Given the description of an element on the screen output the (x, y) to click on. 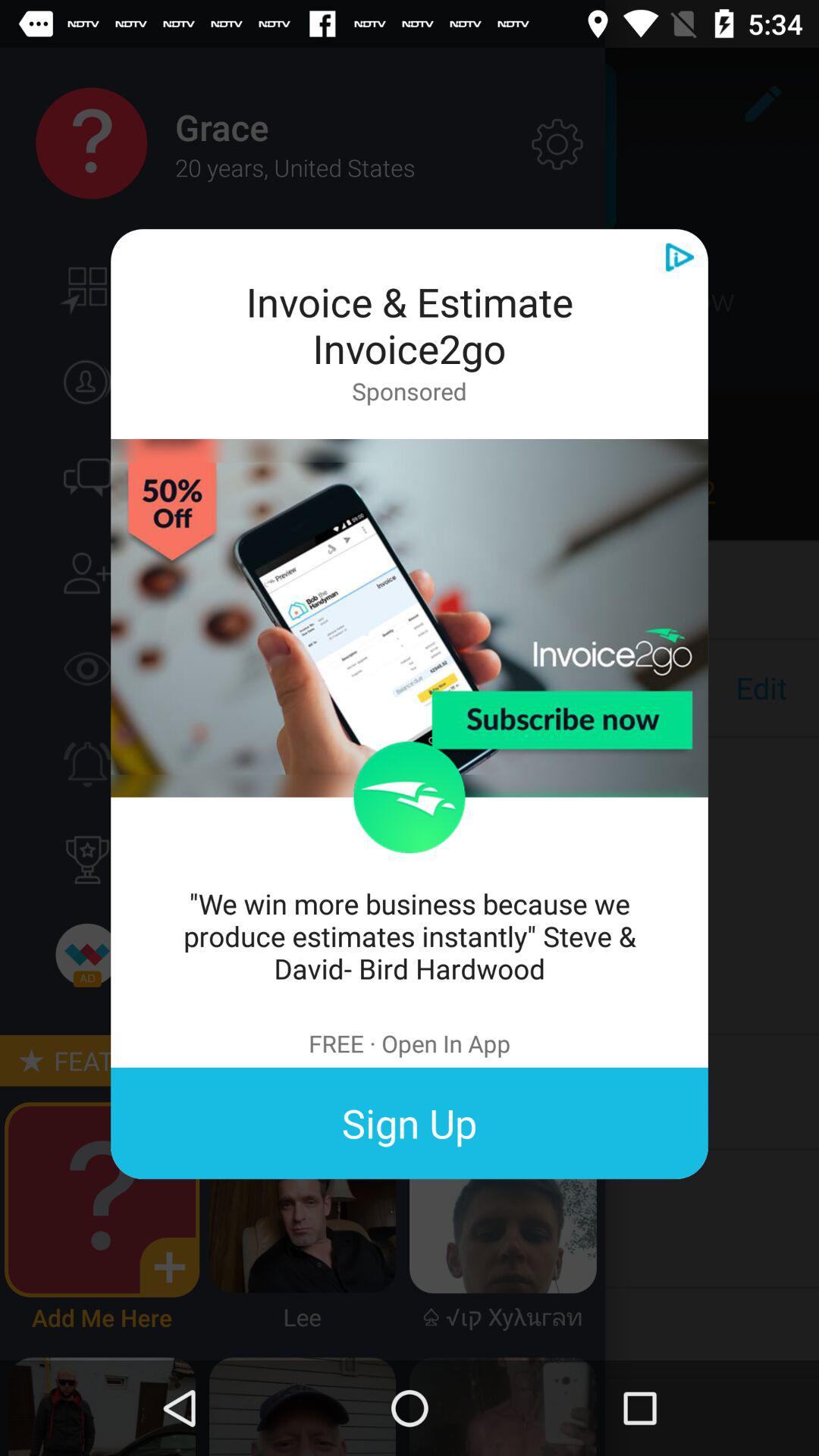
flip to the sign up item (409, 1123)
